Given the description of an element on the screen output the (x, y) to click on. 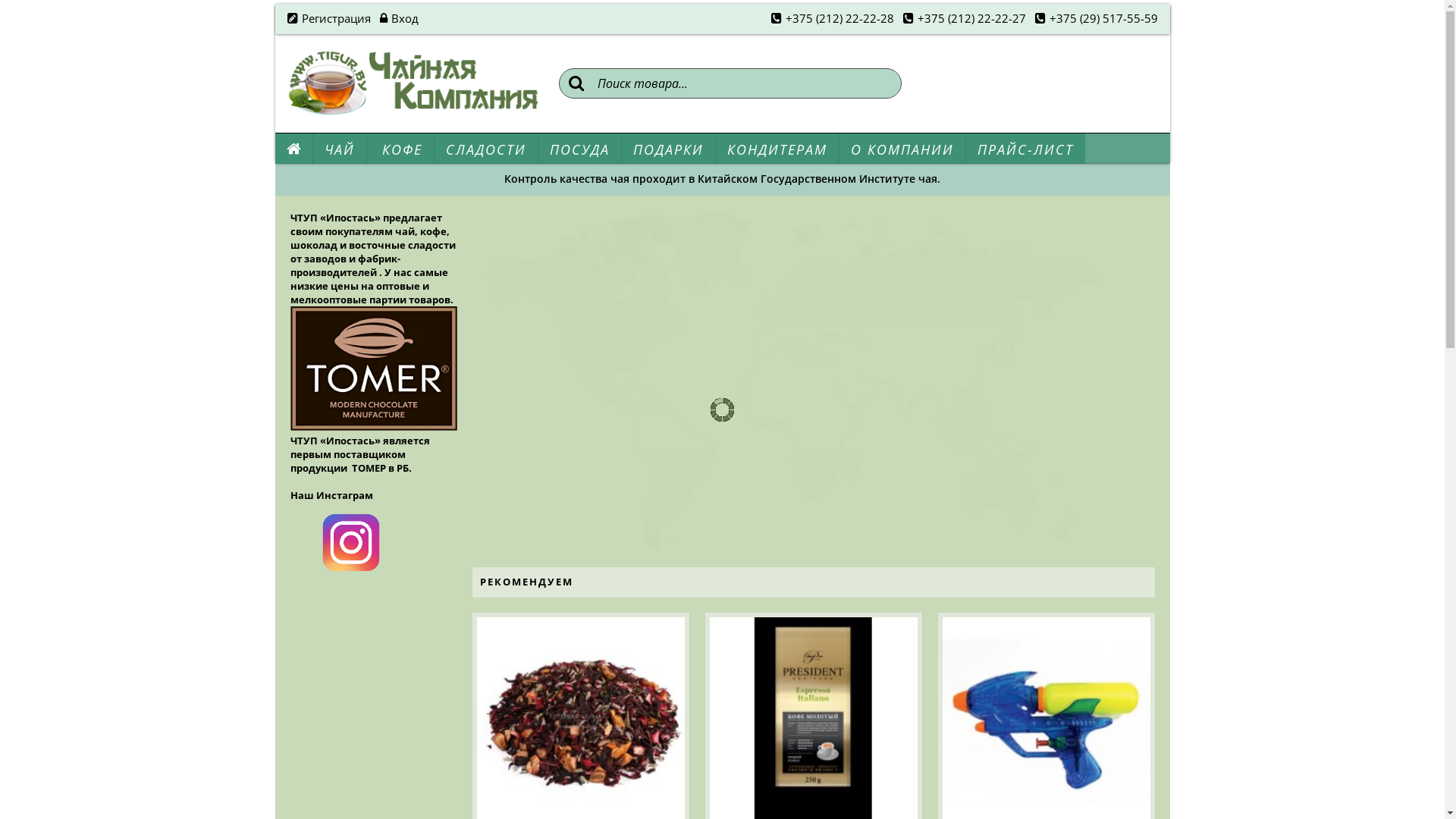
+375 (212) 22-22-27 Element type: text (963, 18)
+375 (29) 517-55-59 Element type: text (1095, 18)
+375 (212) 22-22-28 Element type: text (831, 18)
